Given the description of an element on the screen output the (x, y) to click on. 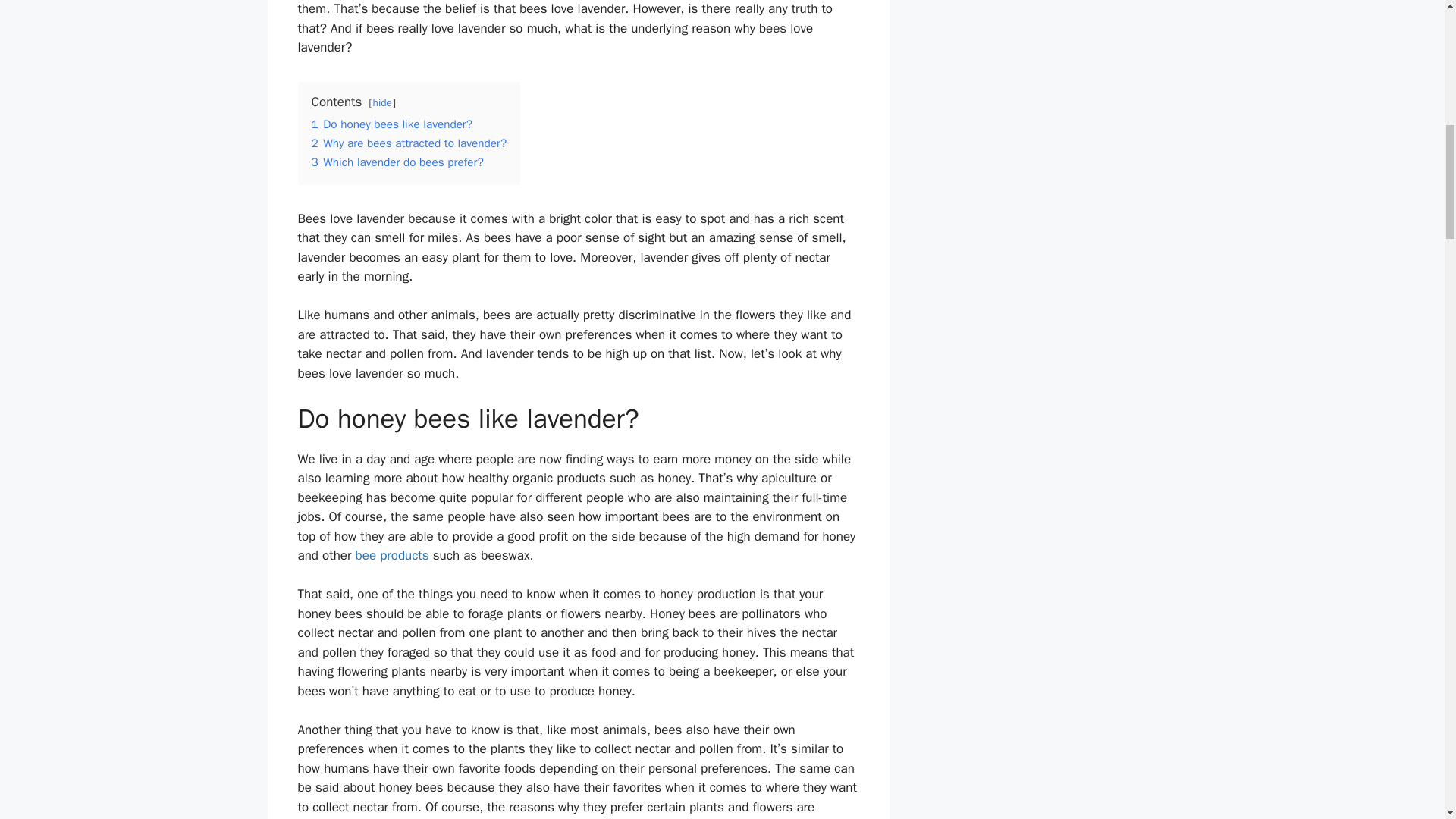
3 Which lavender do bees prefer? (397, 161)
bee products (392, 555)
2 Why are bees attracted to lavender? (408, 142)
hide (381, 102)
bee products (392, 555)
1 Do honey bees like lavender? (391, 124)
